Given the description of an element on the screen output the (x, y) to click on. 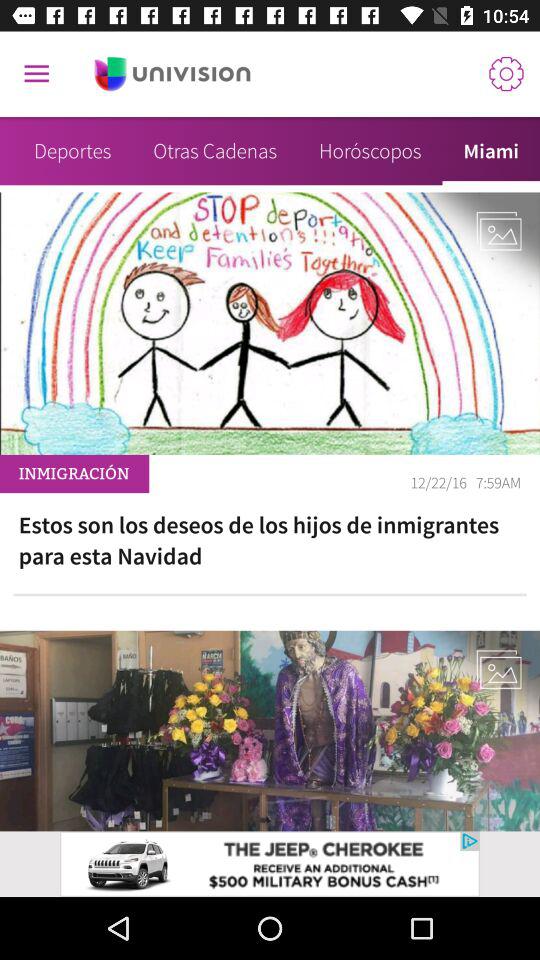
advertisement page (172, 73)
